Given the description of an element on the screen output the (x, y) to click on. 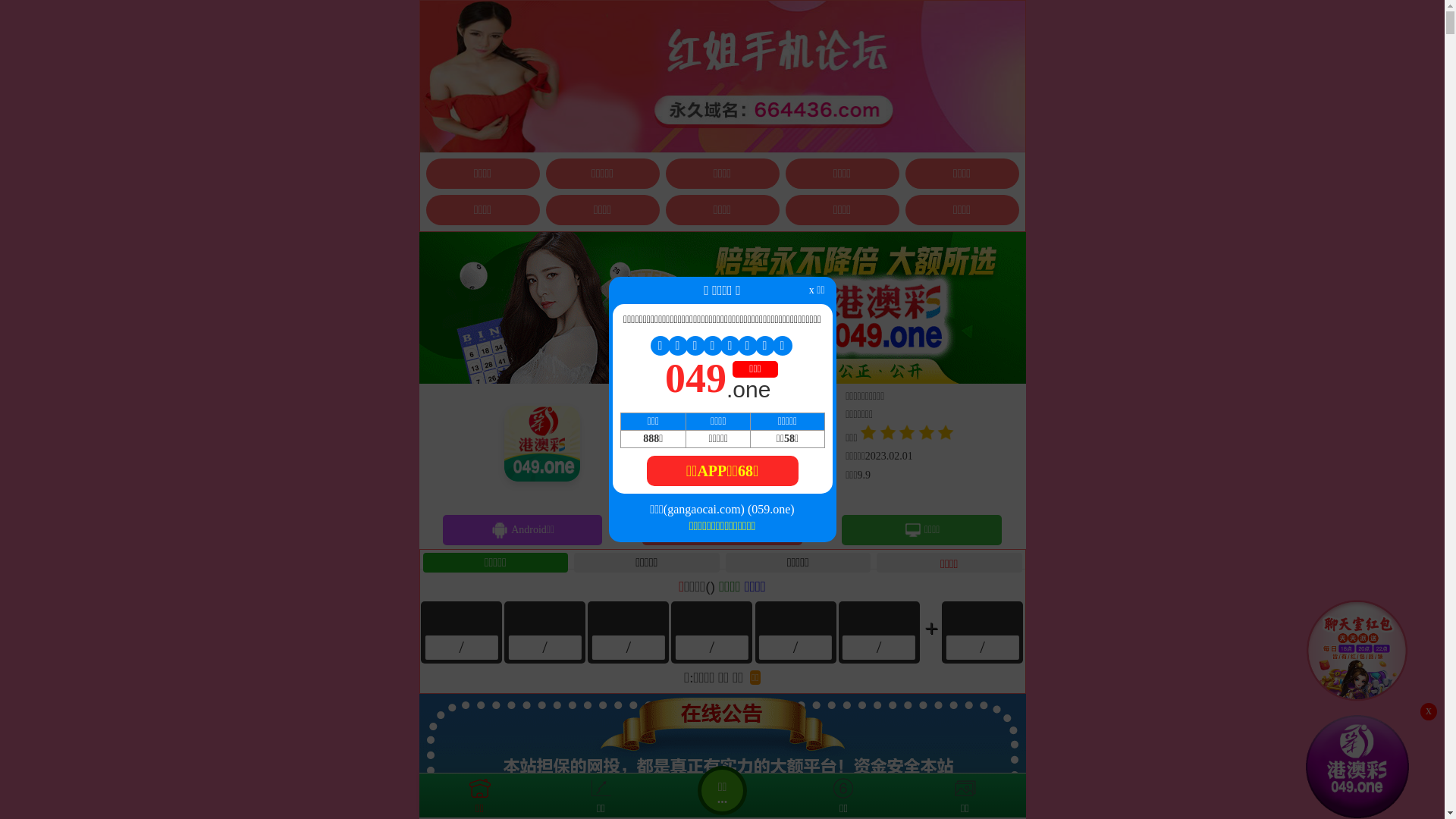
x Element type: text (1428, 711)
